Given the description of an element on the screen output the (x, y) to click on. 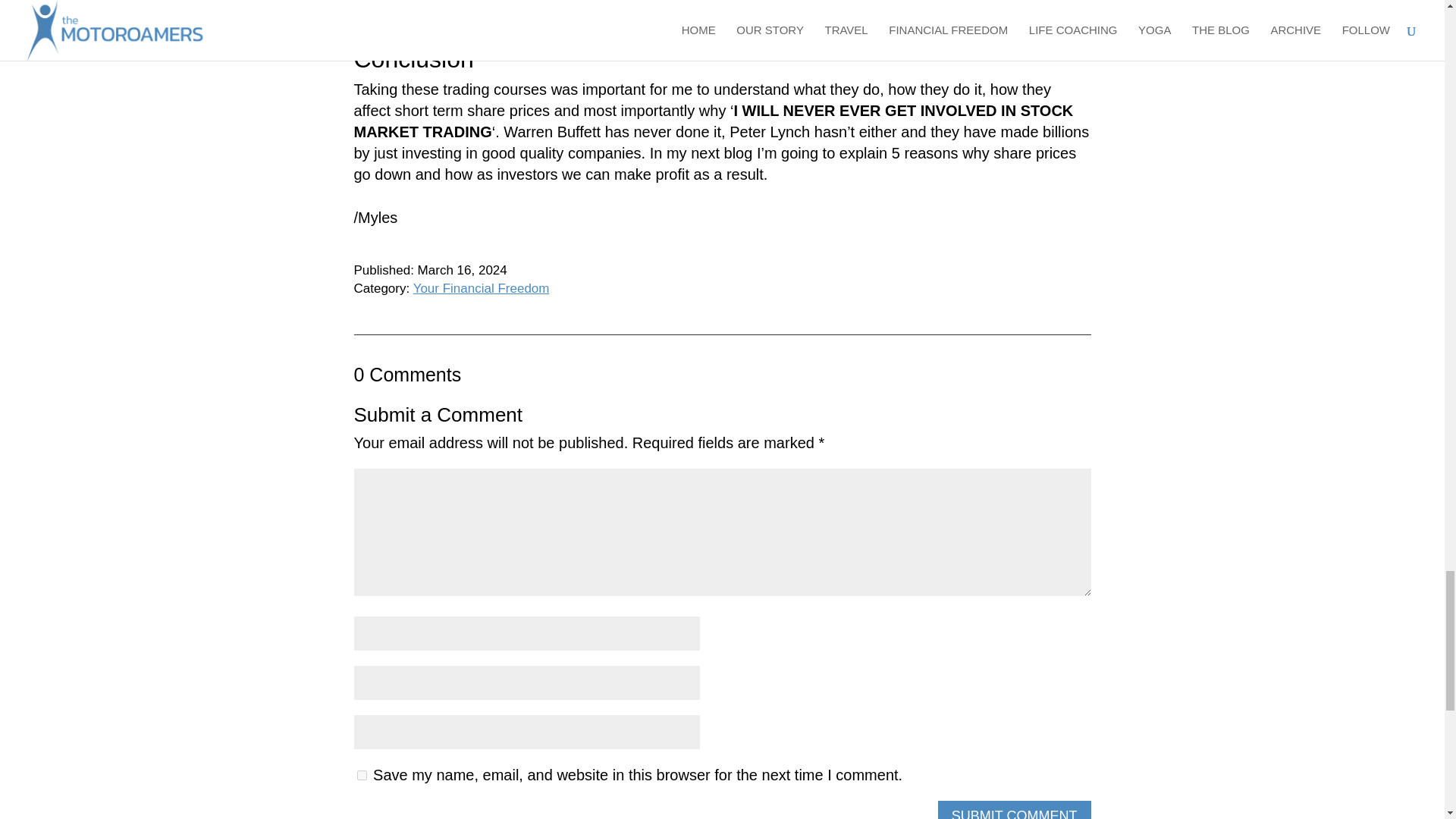
yes (361, 775)
SUBMIT COMMENT (1013, 809)
Your Financial Freedom (481, 288)
